Given the description of an element on the screen output the (x, y) to click on. 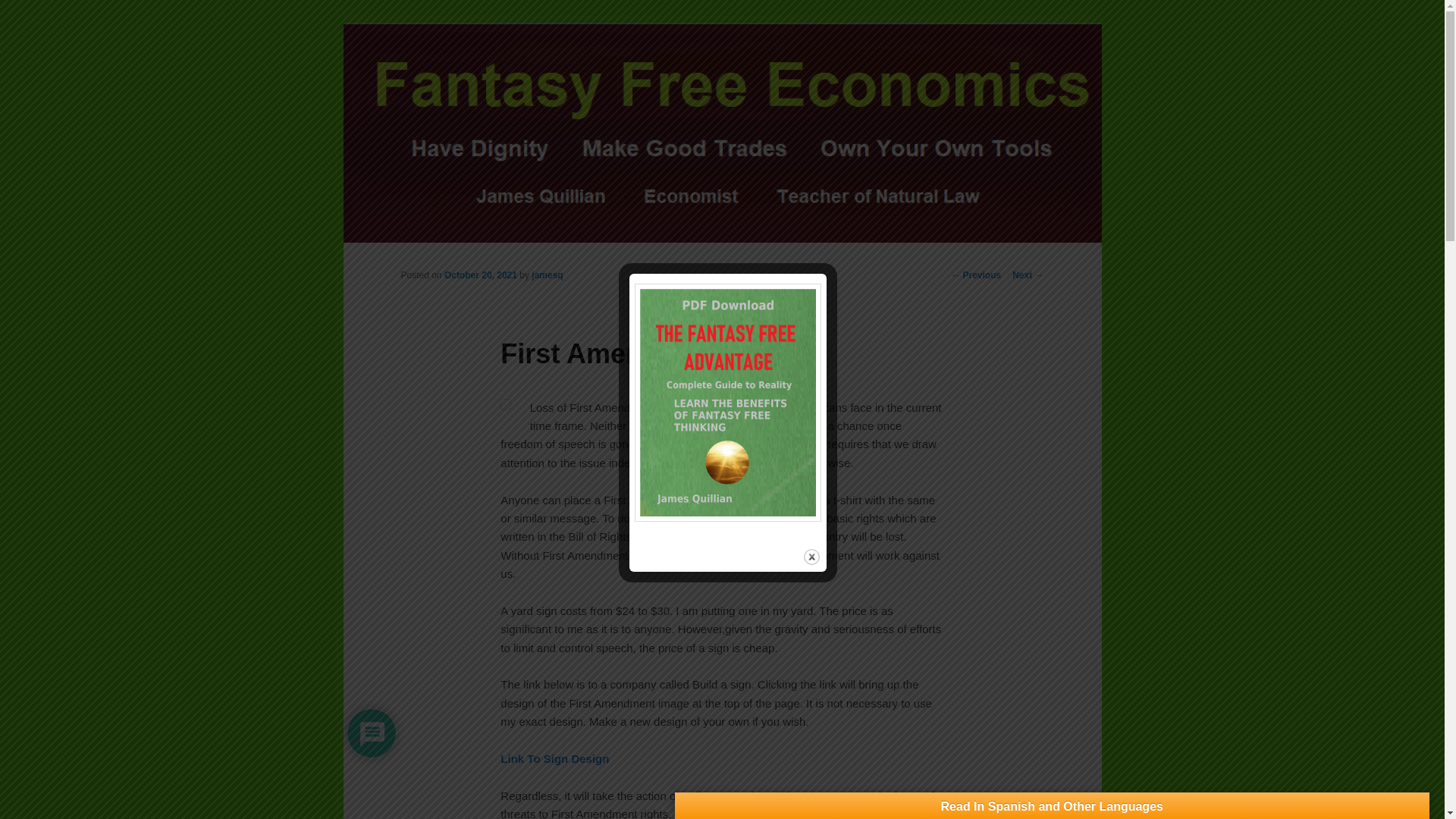
jamesq (546, 275)
12:45 pm (480, 275)
Fantasy Free Economics (534, 78)
View all posts by jamesq (546, 275)
Link To Sign Design (554, 758)
October 20, 2021 (480, 275)
